Given the description of an element on the screen output the (x, y) to click on. 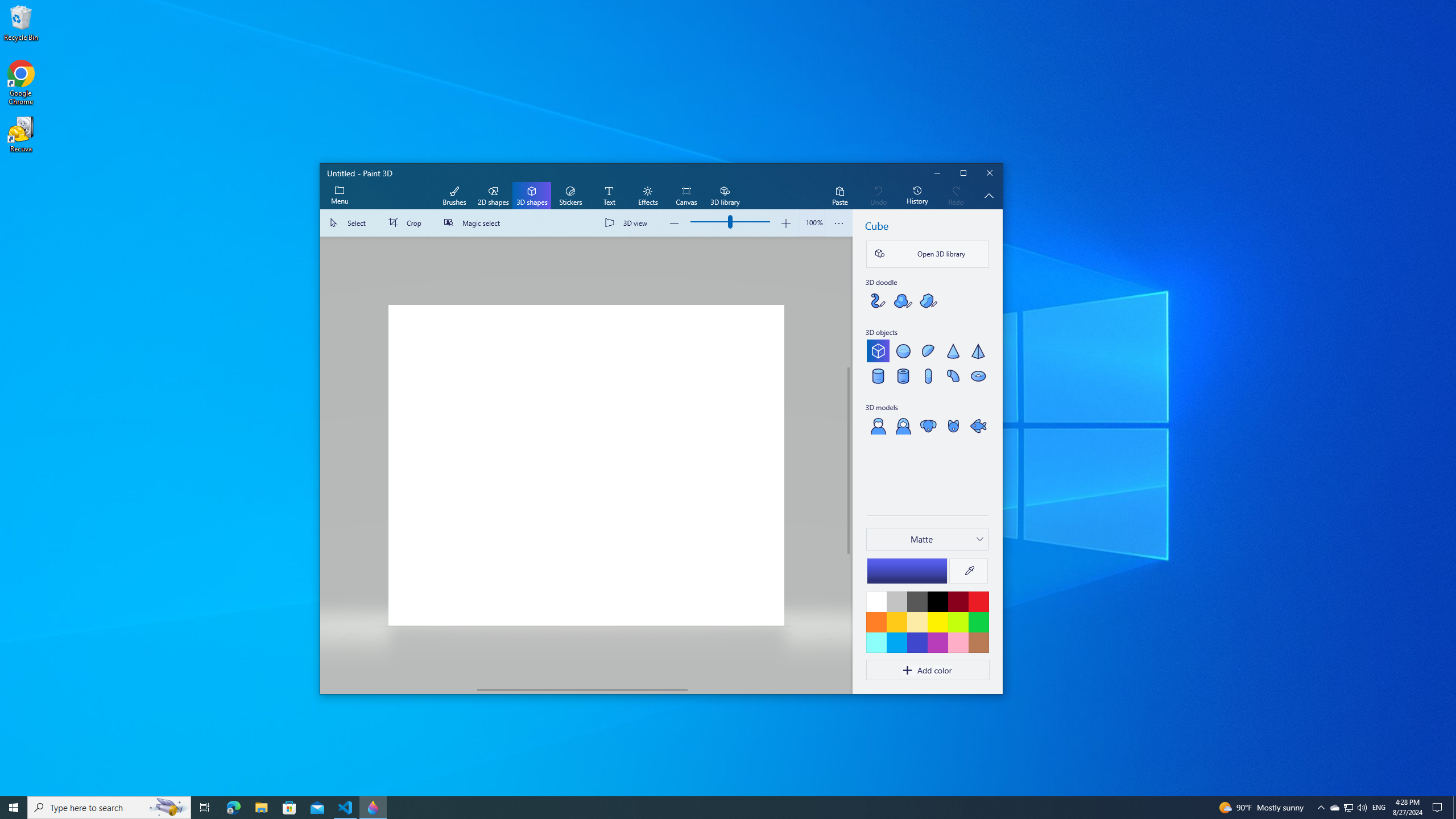
Paste (840, 195)
Sphere (902, 350)
Black (937, 601)
Text (608, 195)
Woman (902, 425)
Man (877, 425)
Yellow (937, 621)
Fish (978, 425)
Pink (937, 642)
Cube (877, 350)
